Given the description of an element on the screen output the (x, y) to click on. 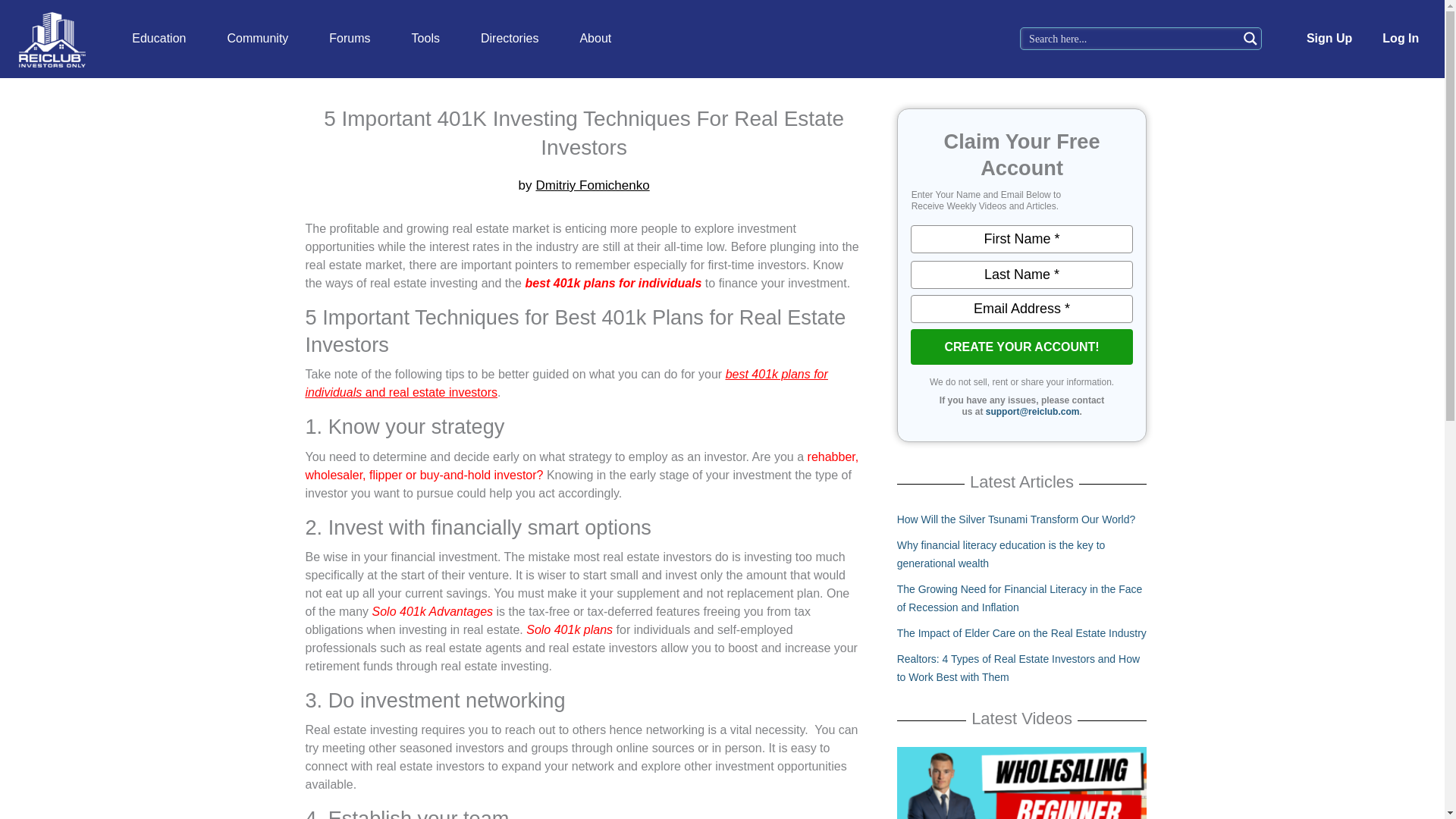
Create Your Account! (1021, 347)
Directories (509, 38)
Forums (349, 38)
Community (257, 38)
Tools (425, 38)
Education (159, 38)
